Given the description of an element on the screen output the (x, y) to click on. 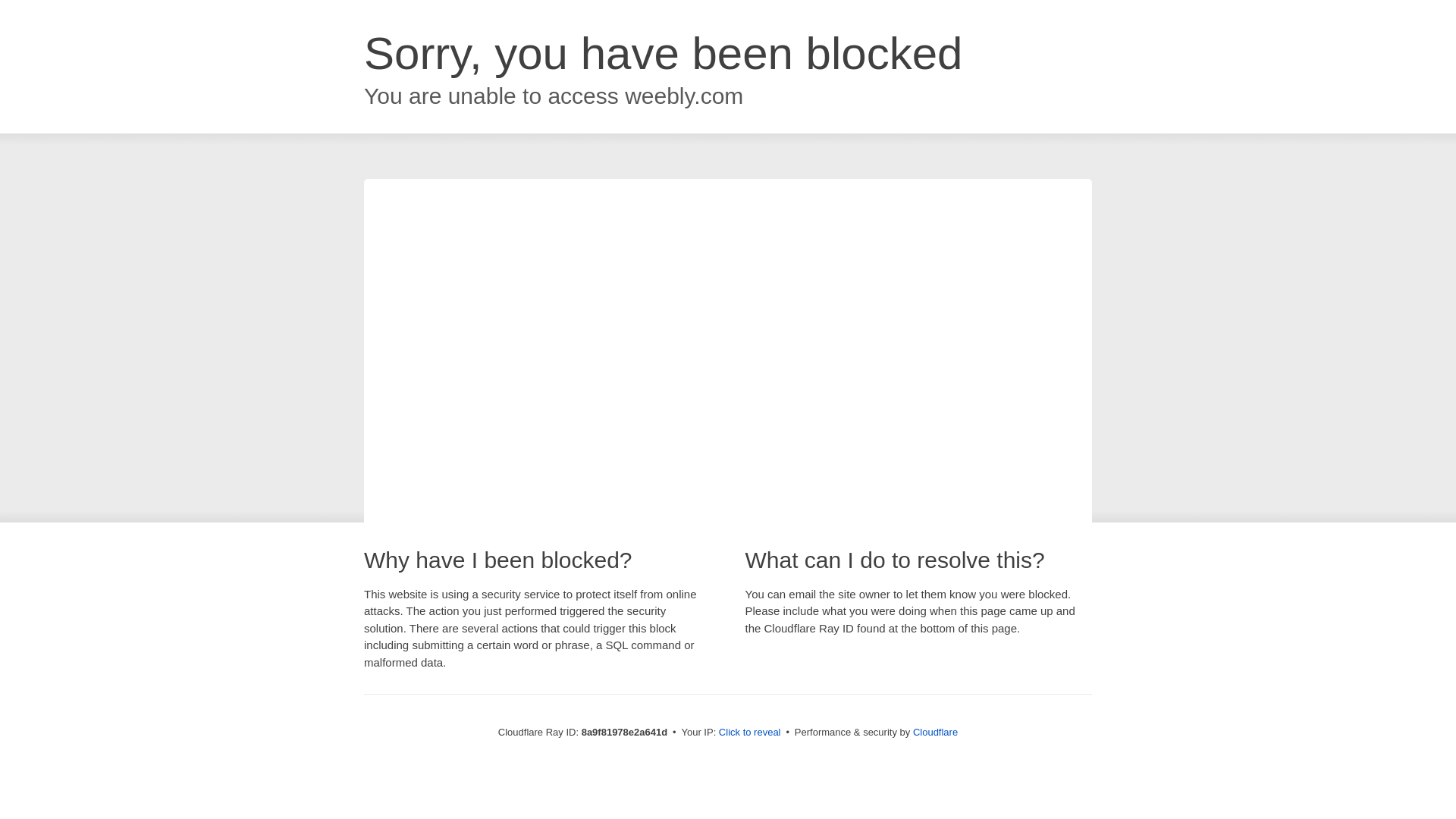
Click to reveal (749, 732)
Cloudflare (935, 731)
